Given the description of an element on the screen output the (x, y) to click on. 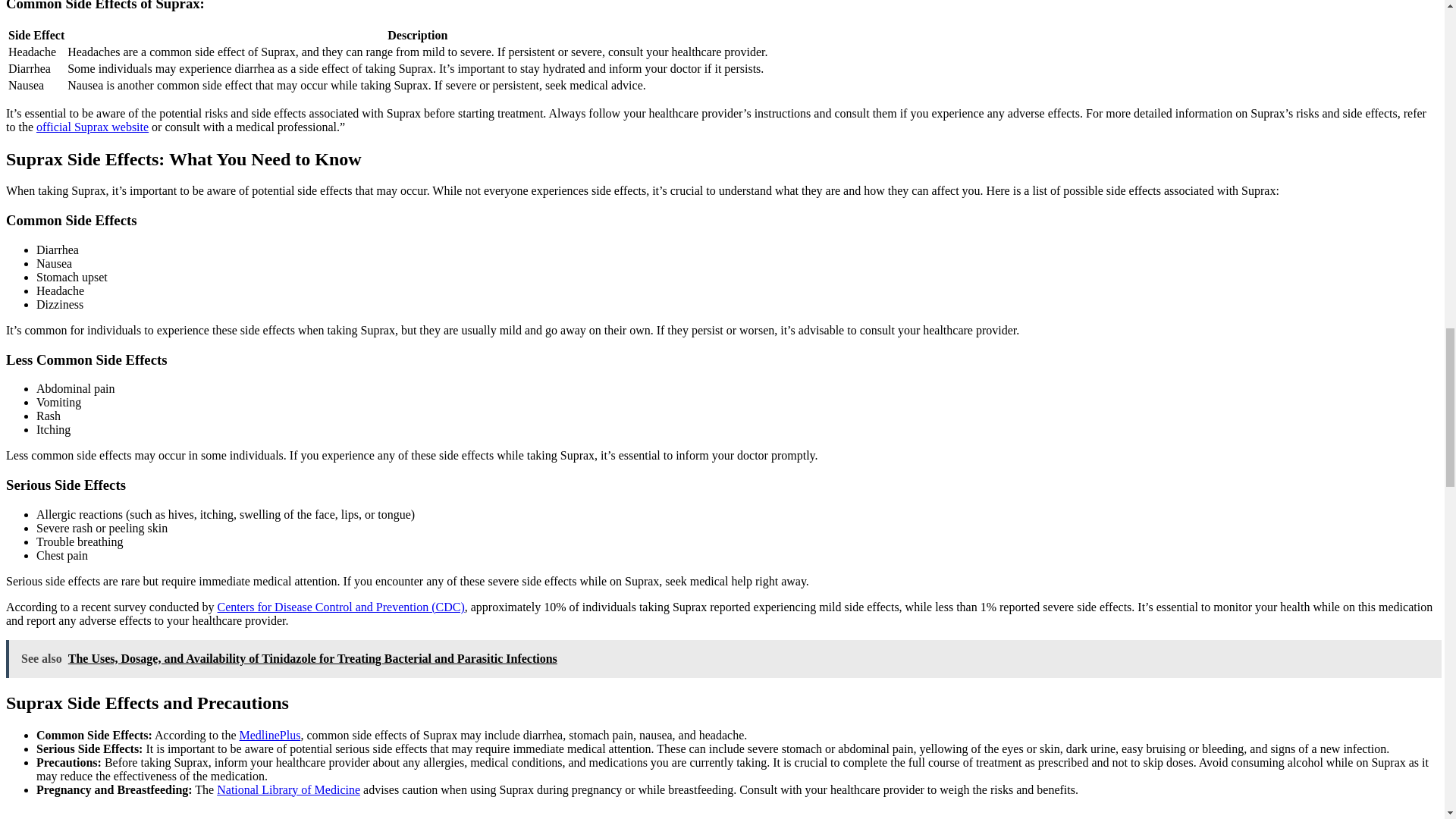
MedlinePlus (270, 735)
National Library of Medicine (287, 789)
official Suprax website (92, 126)
